Given the description of an element on the screen output the (x, y) to click on. 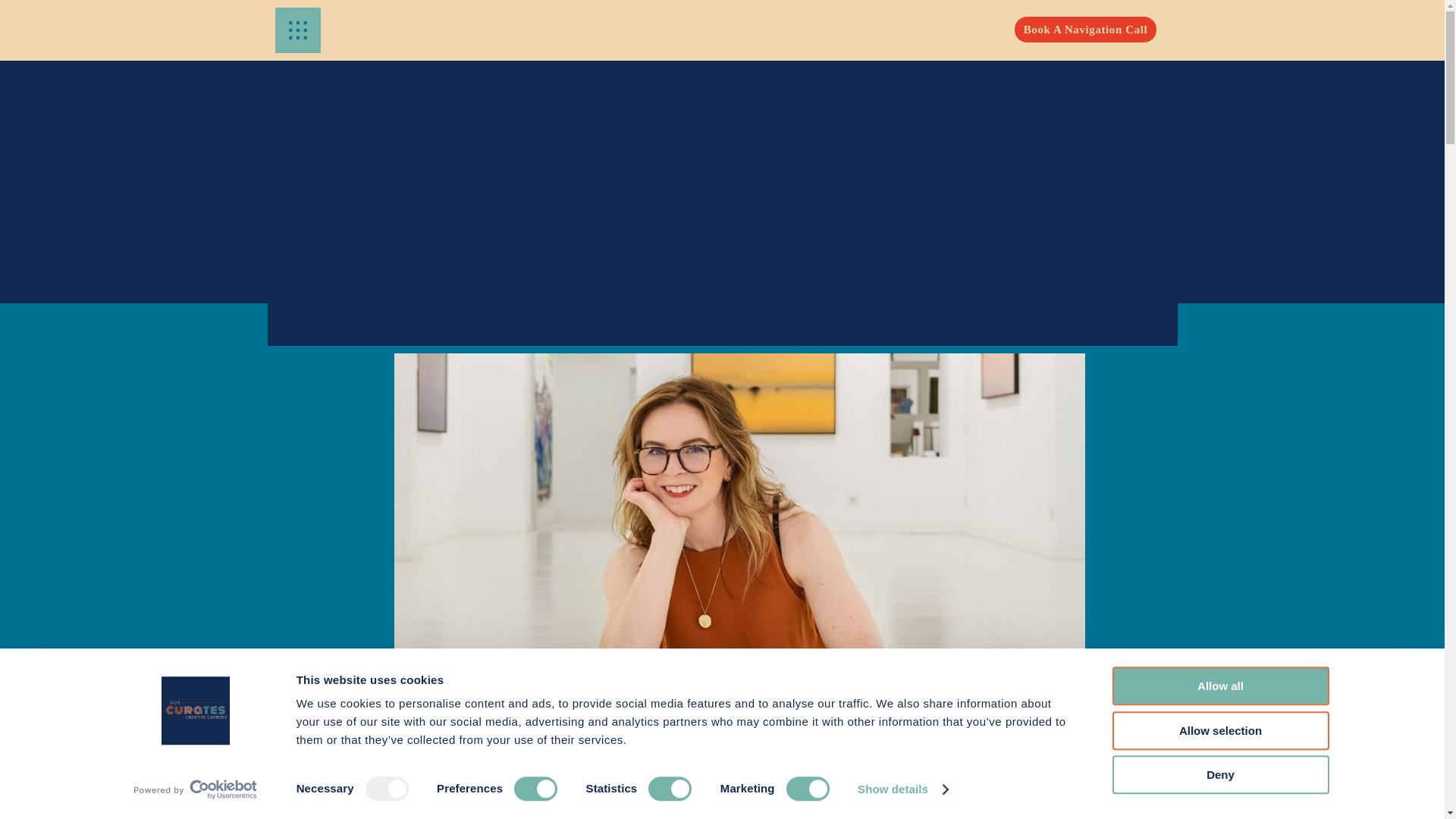
Allow all (1219, 685)
Allow selection (1219, 730)
Book A Navigation Call (1085, 32)
Deny (1219, 774)
Show details (902, 789)
